Given the description of an element on the screen output the (x, y) to click on. 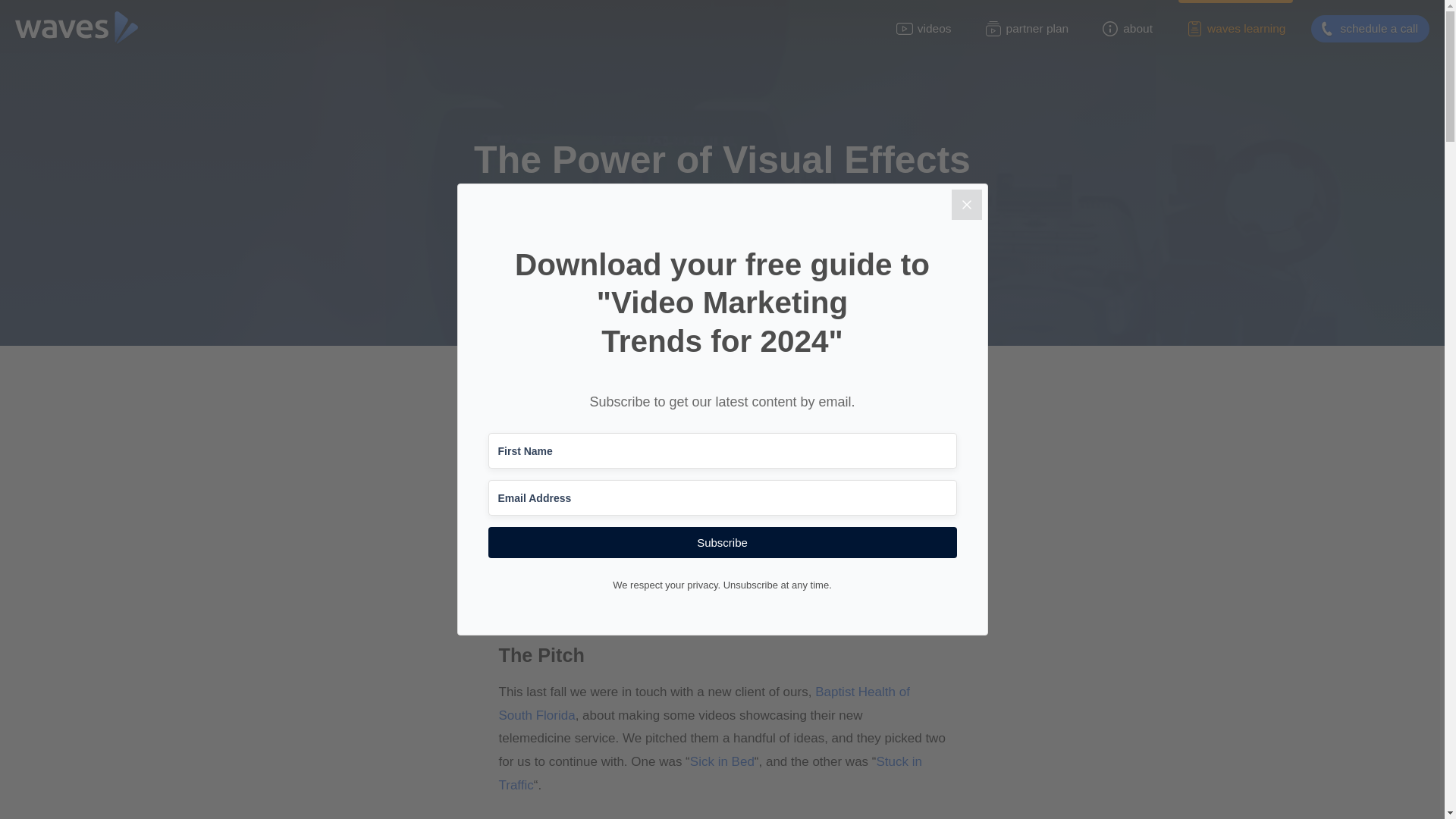
videos (923, 28)
Sick in Bed (722, 761)
Video Marketing (780, 252)
Stuck in Traffic (710, 773)
Waves (825, 588)
schedule a call (1370, 28)
Baptist Health of South Florida (704, 703)
waves learning (1234, 28)
about (1127, 28)
partner plan (1026, 28)
Thinking Business (669, 252)
Subscribe (721, 542)
